Given the description of an element on the screen output the (x, y) to click on. 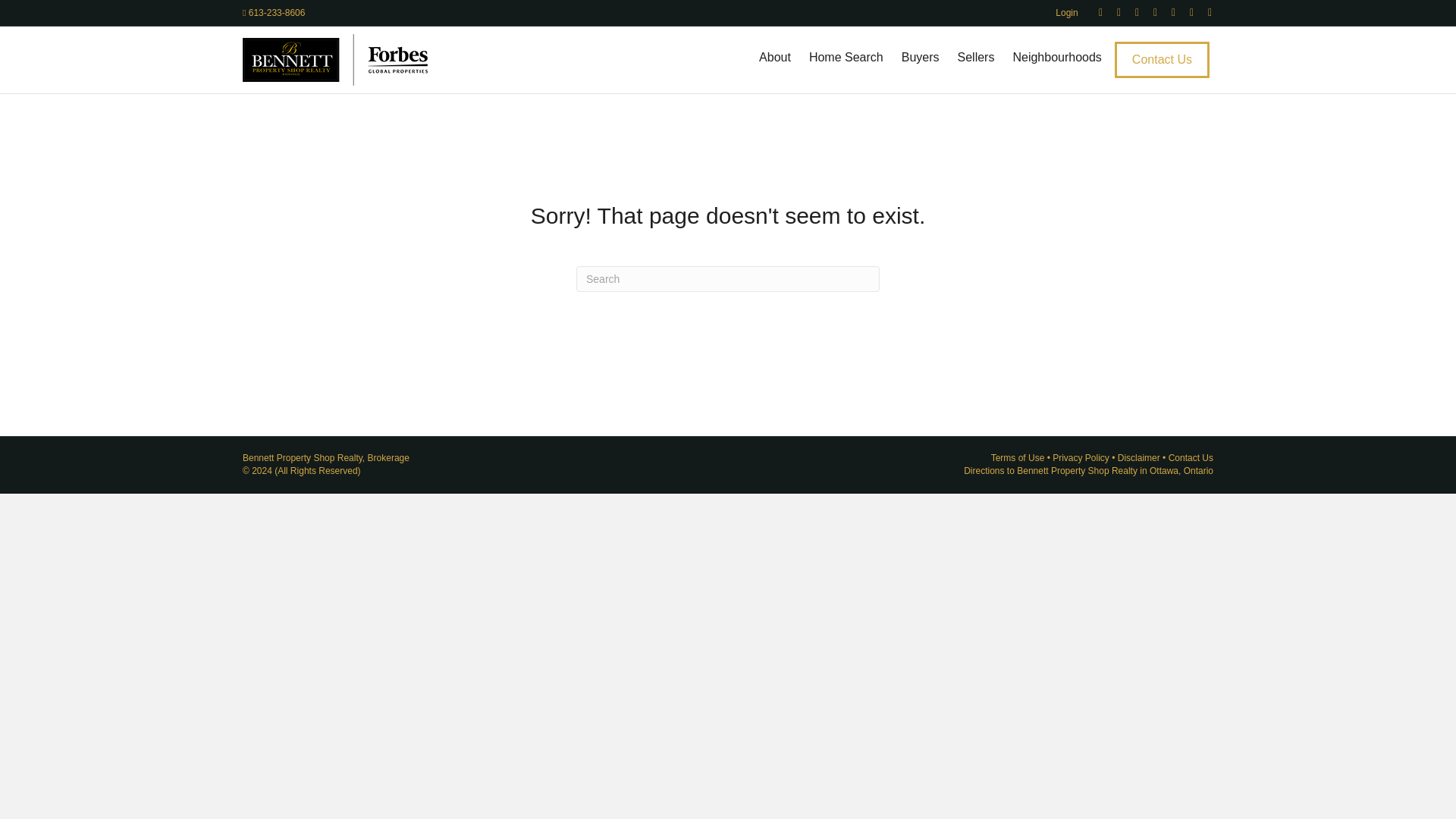
About (774, 56)
Buyers (920, 56)
Linkedin (1129, 11)
Twitter (1111, 11)
Login (1066, 13)
Facebook (1093, 11)
Home Search (845, 56)
Email (1202, 11)
Pinterest (1147, 11)
Instagram (1183, 11)
